Given the description of an element on the screen output the (x, y) to click on. 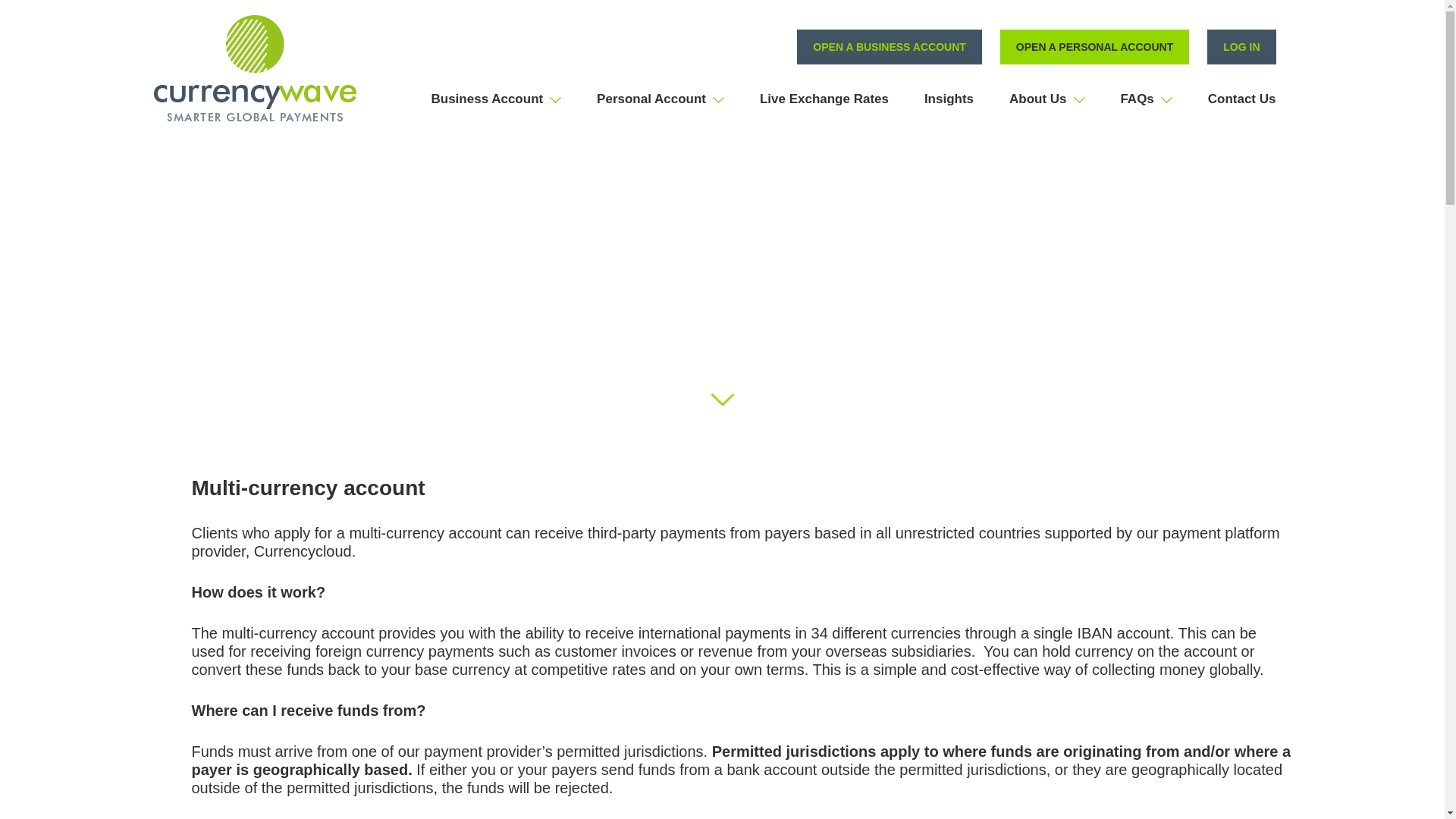
Live Exchange Rates (824, 98)
Insights (949, 98)
LOG IN (1241, 47)
OPEN A PERSONAL ACCOUNT (1094, 47)
About Us (1046, 98)
OPEN A BUSINESS ACCOUNT (888, 47)
FAQs (1145, 98)
Personal Account (659, 98)
Contact Us (1242, 98)
Business Account (495, 98)
